Given the description of an element on the screen output the (x, y) to click on. 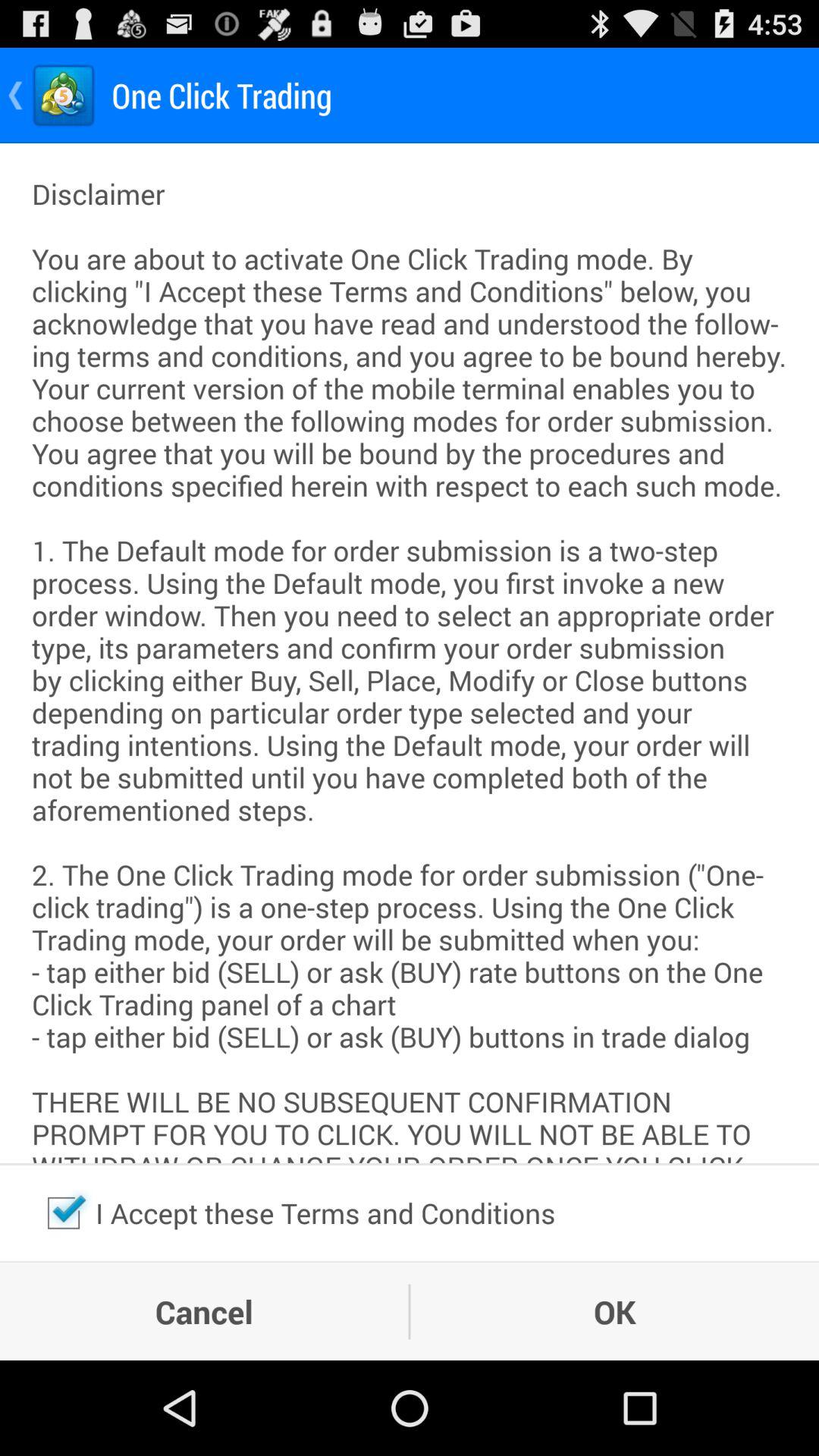
flip to cancel item (204, 1311)
